Given the description of an element on the screen output the (x, y) to click on. 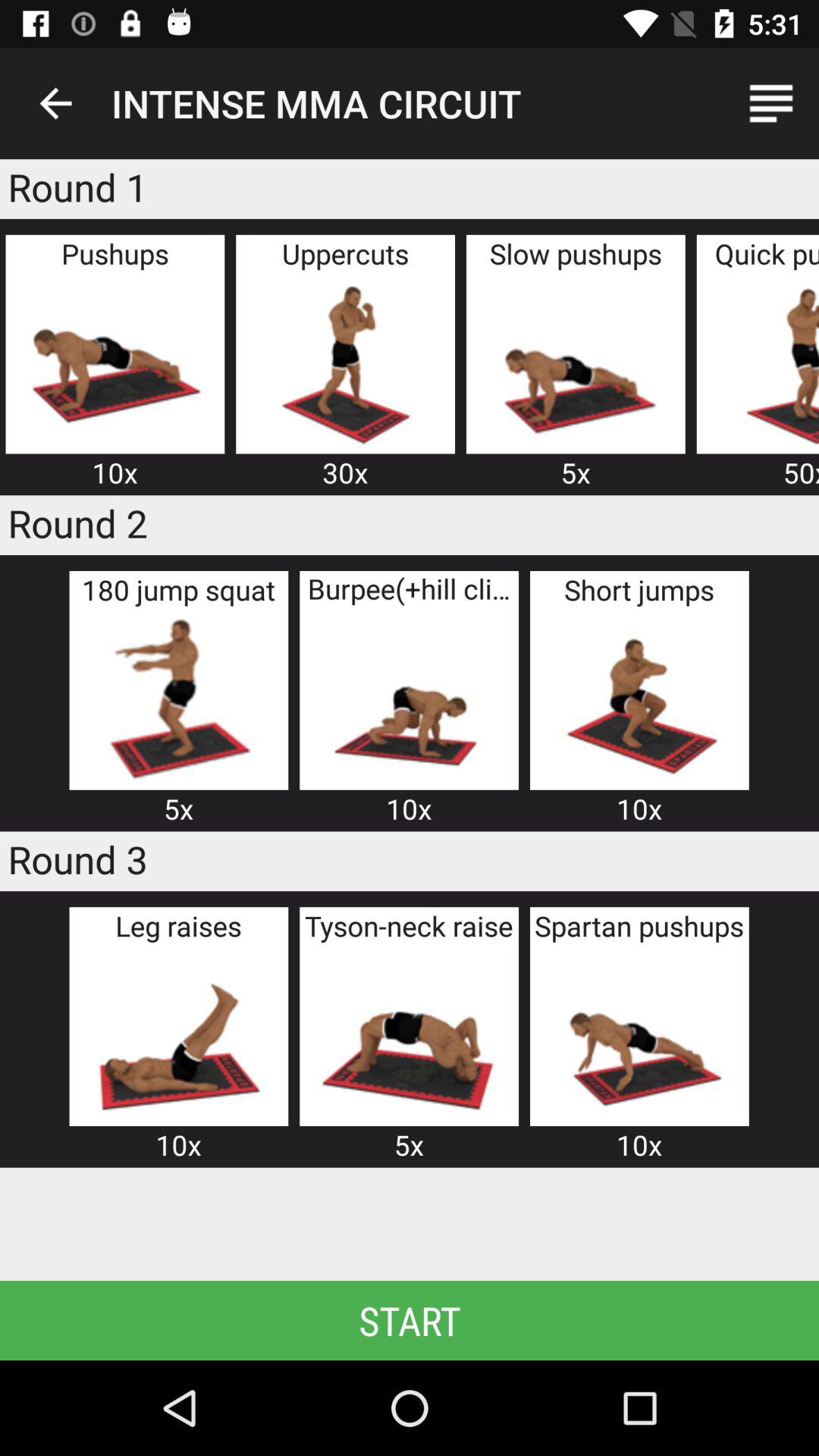
intense mma circuit 30k (344, 362)
